Given the description of an element on the screen output the (x, y) to click on. 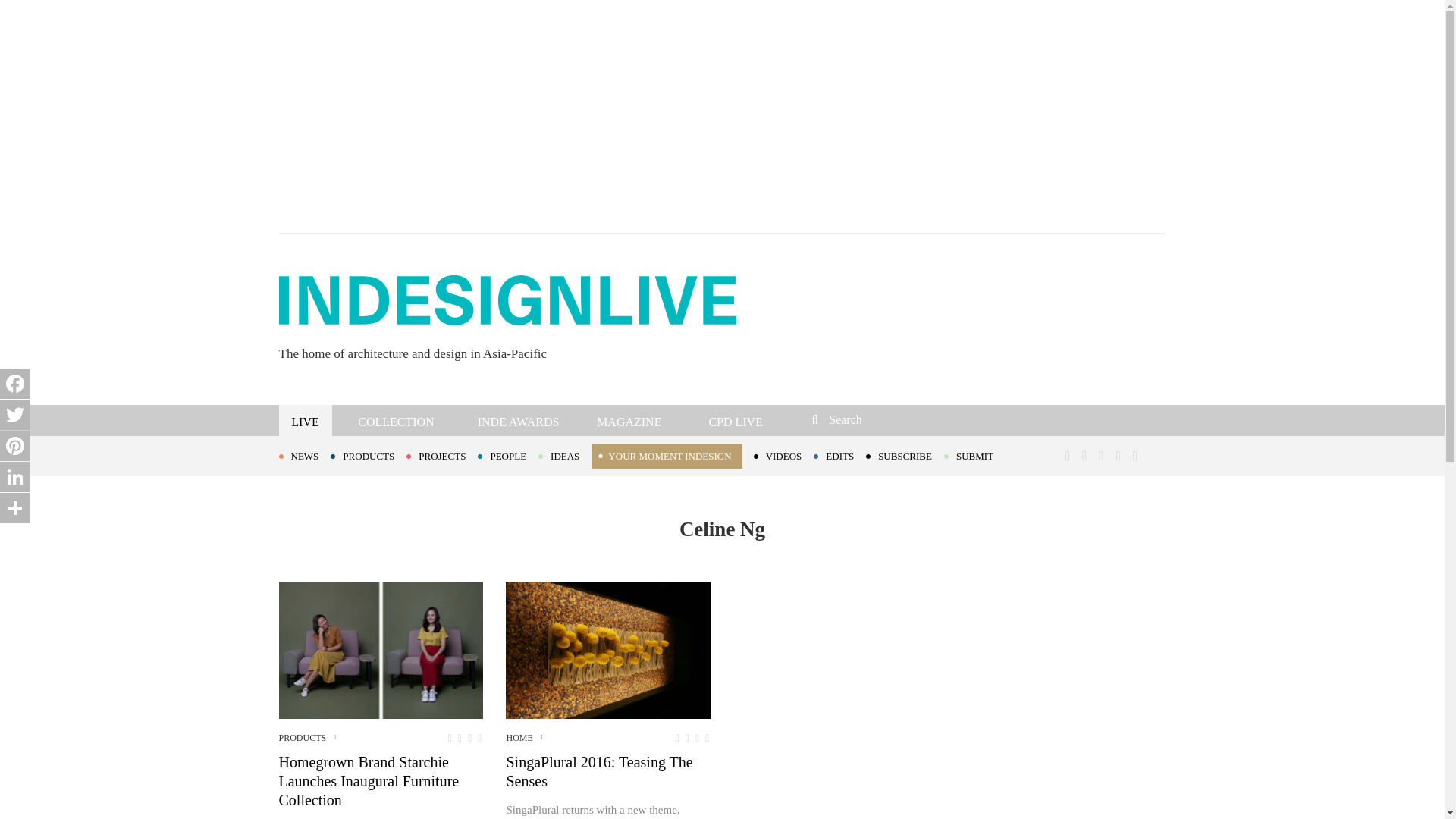
PRODUCTS (368, 455)
VIDEOS (783, 455)
SUBMIT (974, 455)
Pinterest (15, 445)
LinkedIn (15, 476)
EDITS (839, 455)
PROJECTS (441, 455)
PEOPLE (507, 455)
Twitter (15, 414)
Facebook (15, 383)
NEWS (305, 455)
IDEAS (564, 455)
Search (913, 418)
SingaPlural 2016: Teasing The Senses (607, 650)
